Given the description of an element on the screen output the (x, y) to click on. 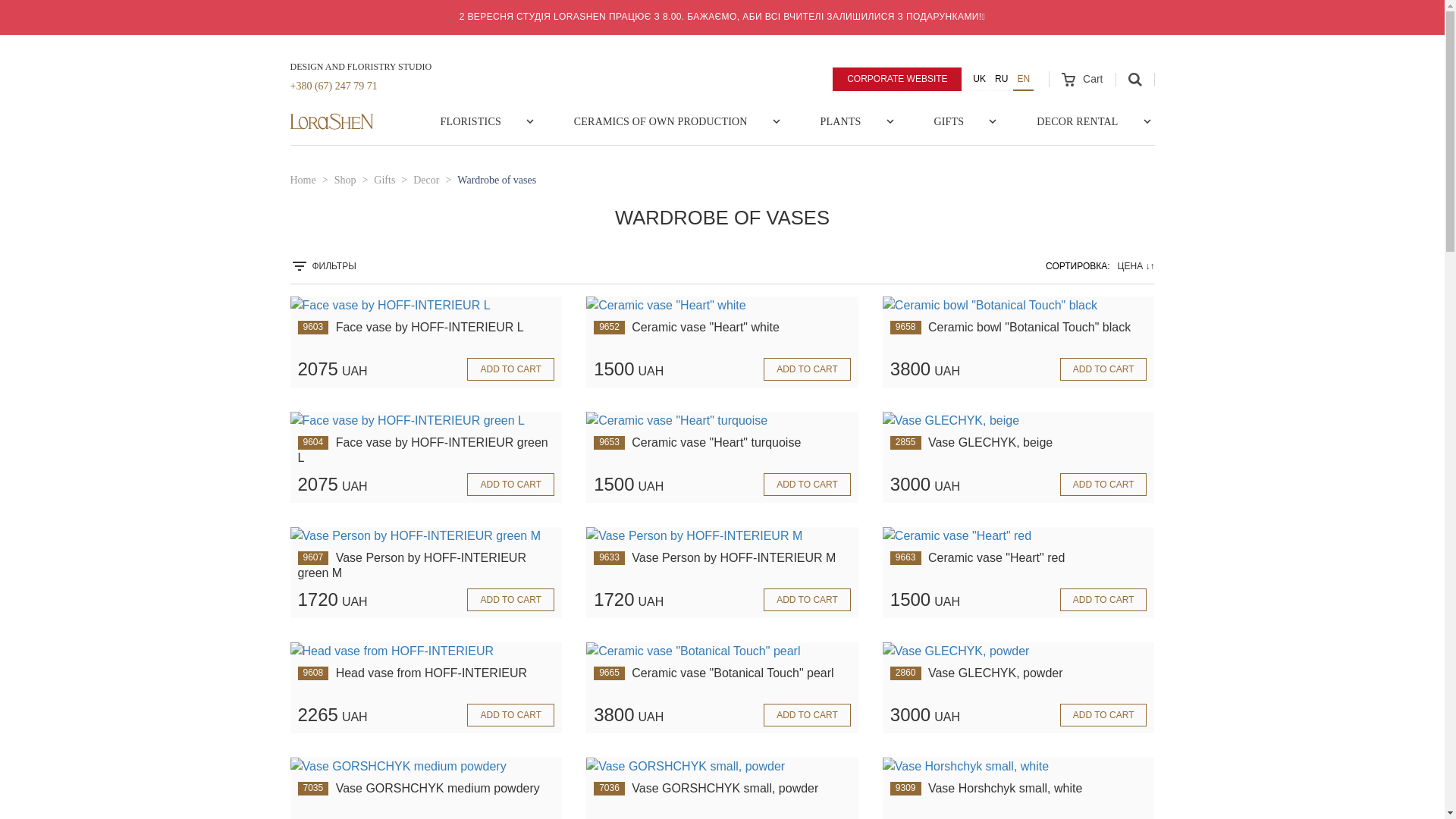
EN (1023, 78)
FLORISTICS (470, 121)
Russian (1001, 78)
UK (979, 78)
Ukrainian (979, 78)
CORPORATE WEBSITE (896, 78)
English (1023, 78)
Cart (1081, 78)
RU (1001, 78)
